Given the description of an element on the screen output the (x, y) to click on. 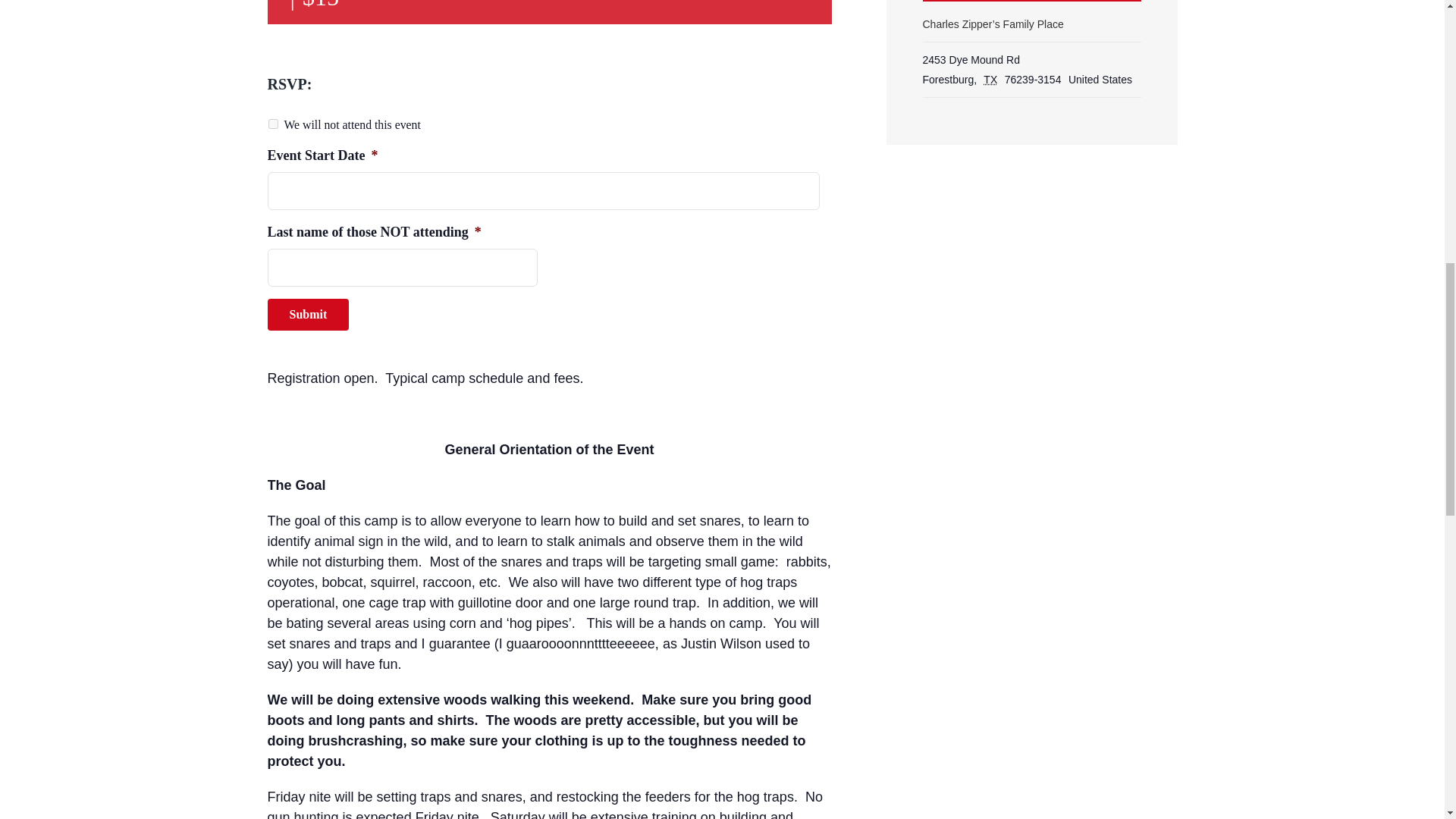
Submit (307, 314)
We will not attend this event (272, 123)
